Given the description of an element on the screen output the (x, y) to click on. 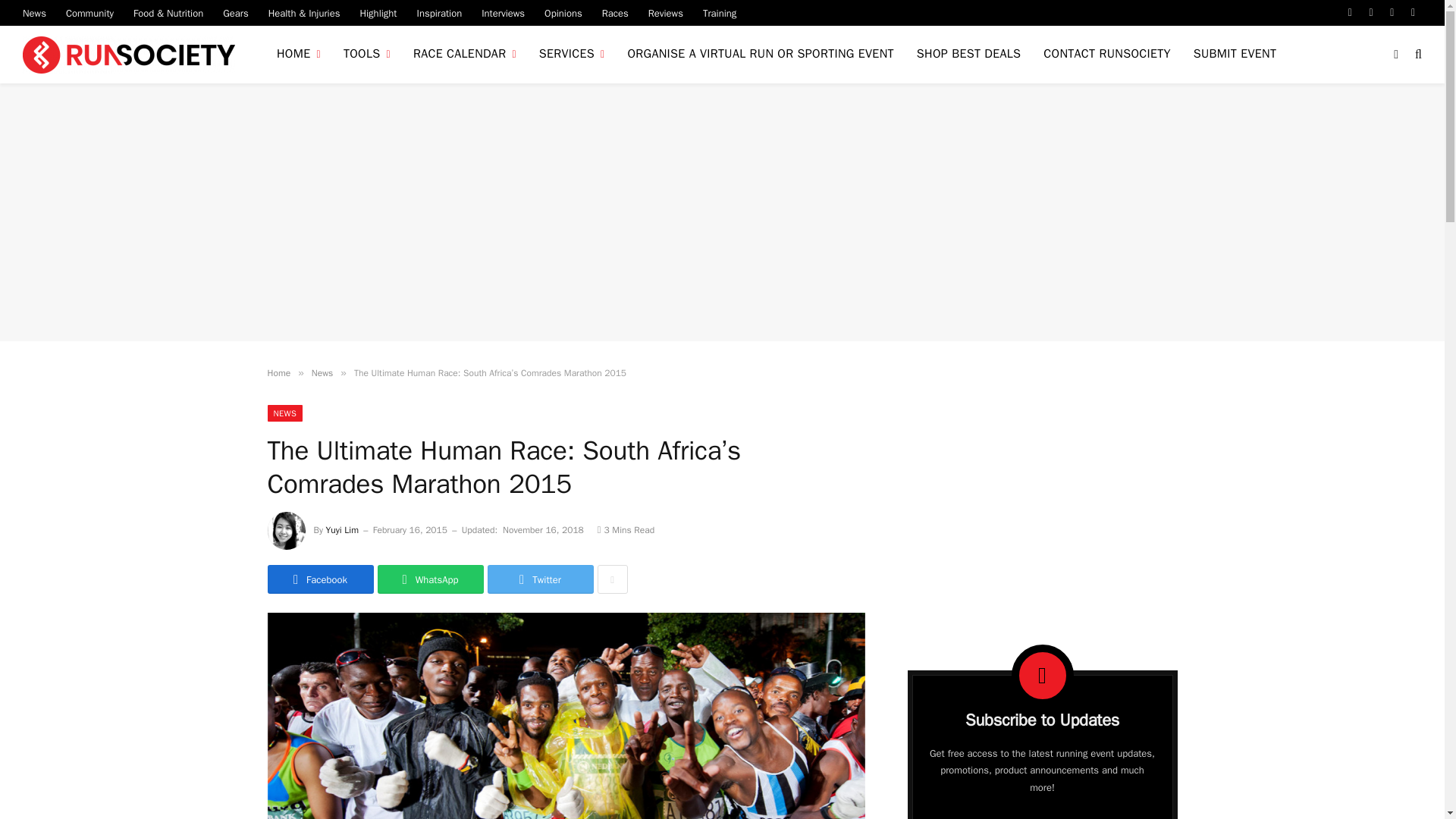
Posts by Yuyi Lim (342, 530)
Share on Facebook (319, 579)
Share on WhatsApp (430, 579)
Switch to Dark Design - easier on eyes. (1396, 54)
